Given the description of an element on the screen output the (x, y) to click on. 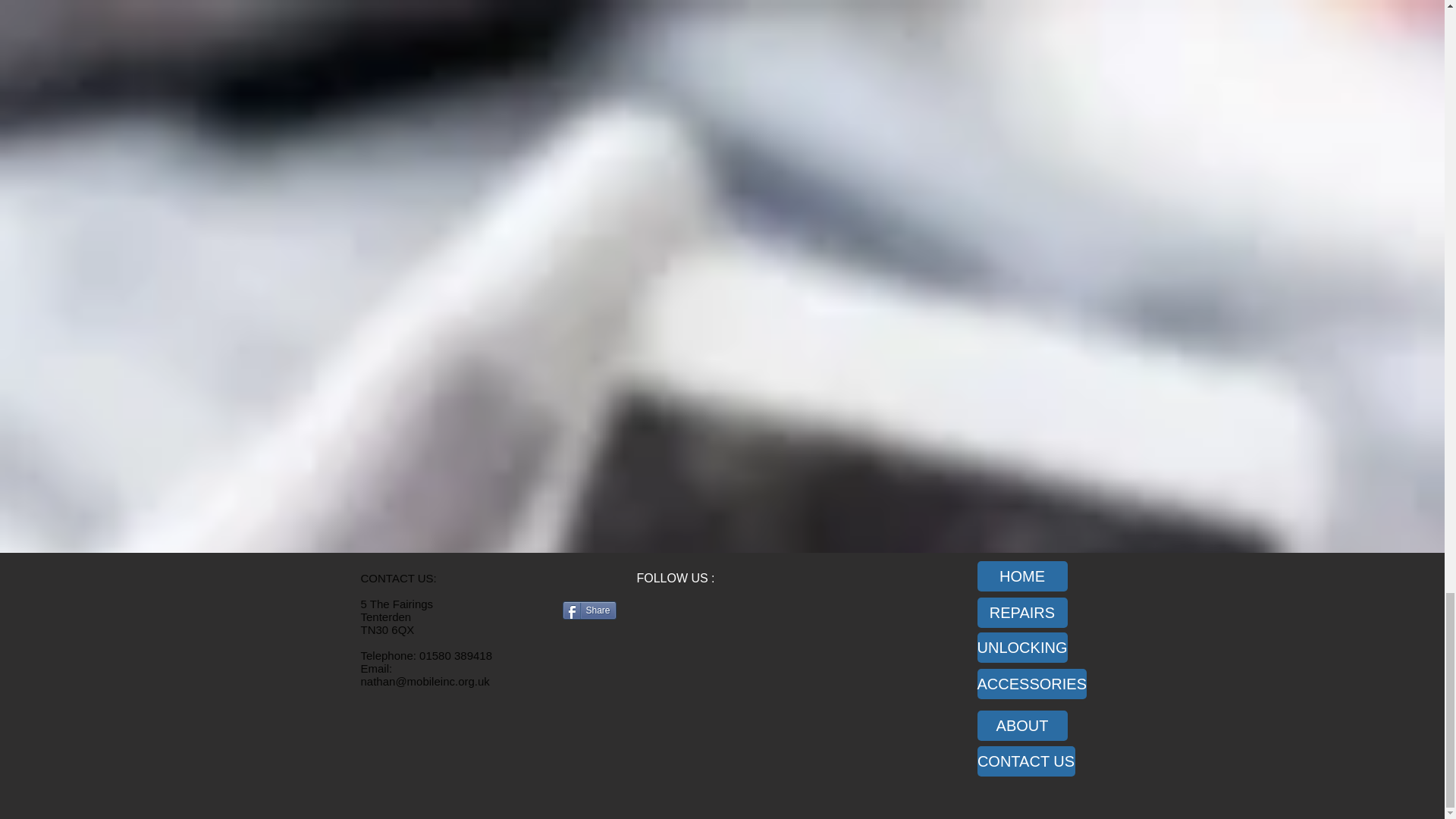
CONTACT US (1025, 761)
REPAIRS (1021, 612)
ABOUT (1021, 725)
Share (588, 610)
Share (588, 610)
UNLOCKING (1021, 647)
HOME (1021, 576)
ACCESSORIES (1031, 684)
Facebook Like (657, 643)
